Given the description of an element on the screen output the (x, y) to click on. 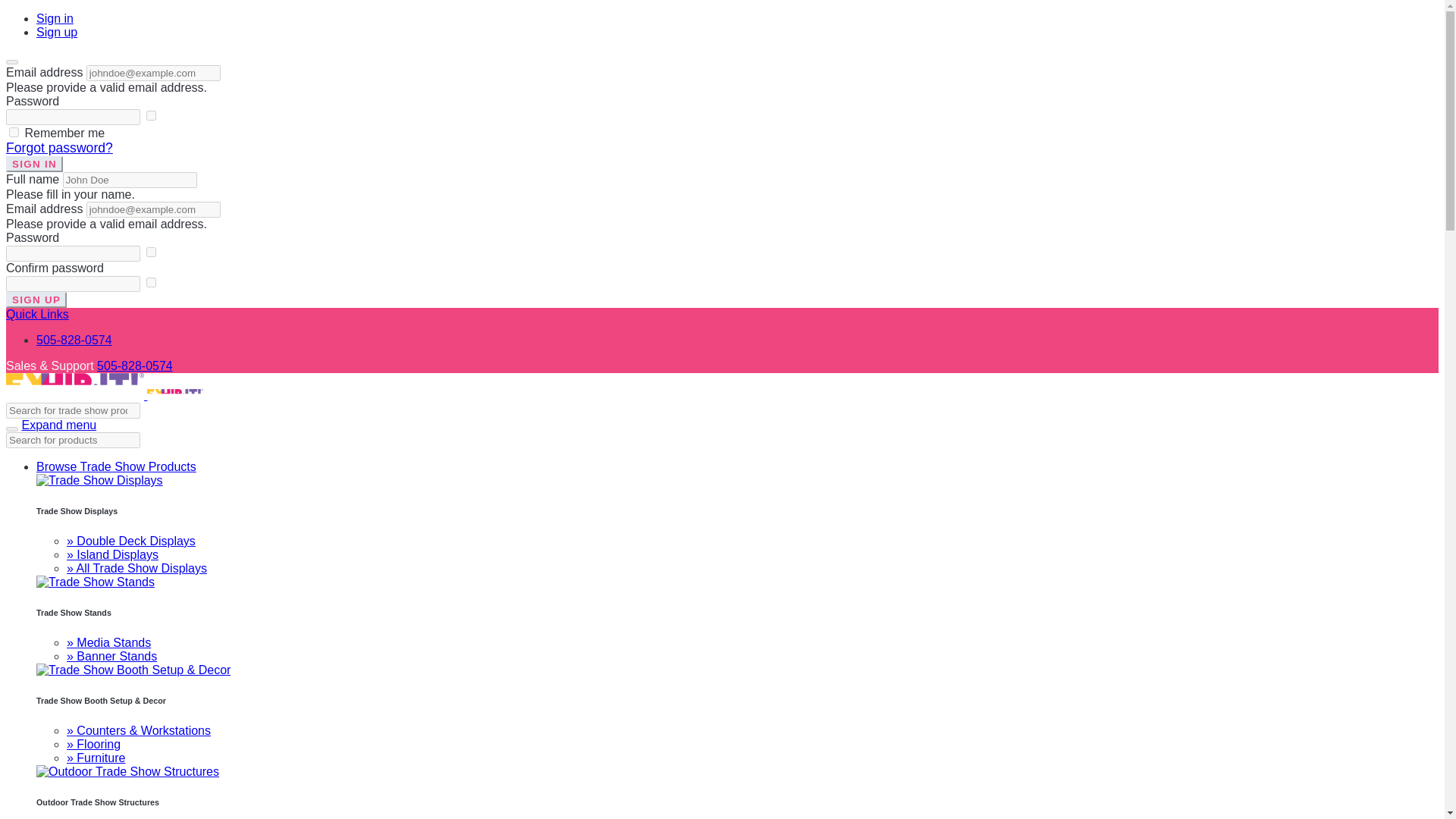
on (13, 132)
505-828-0574 (135, 366)
SIGN UP (35, 299)
on (151, 115)
Sign in (55, 18)
Quick Links (36, 314)
505-828-0574 (74, 339)
SIGN IN (33, 163)
Sign up (56, 31)
on (151, 252)
Browse Trade Show Products (116, 466)
Forgot password? (59, 147)
on (151, 282)
